Given the description of an element on the screen output the (x, y) to click on. 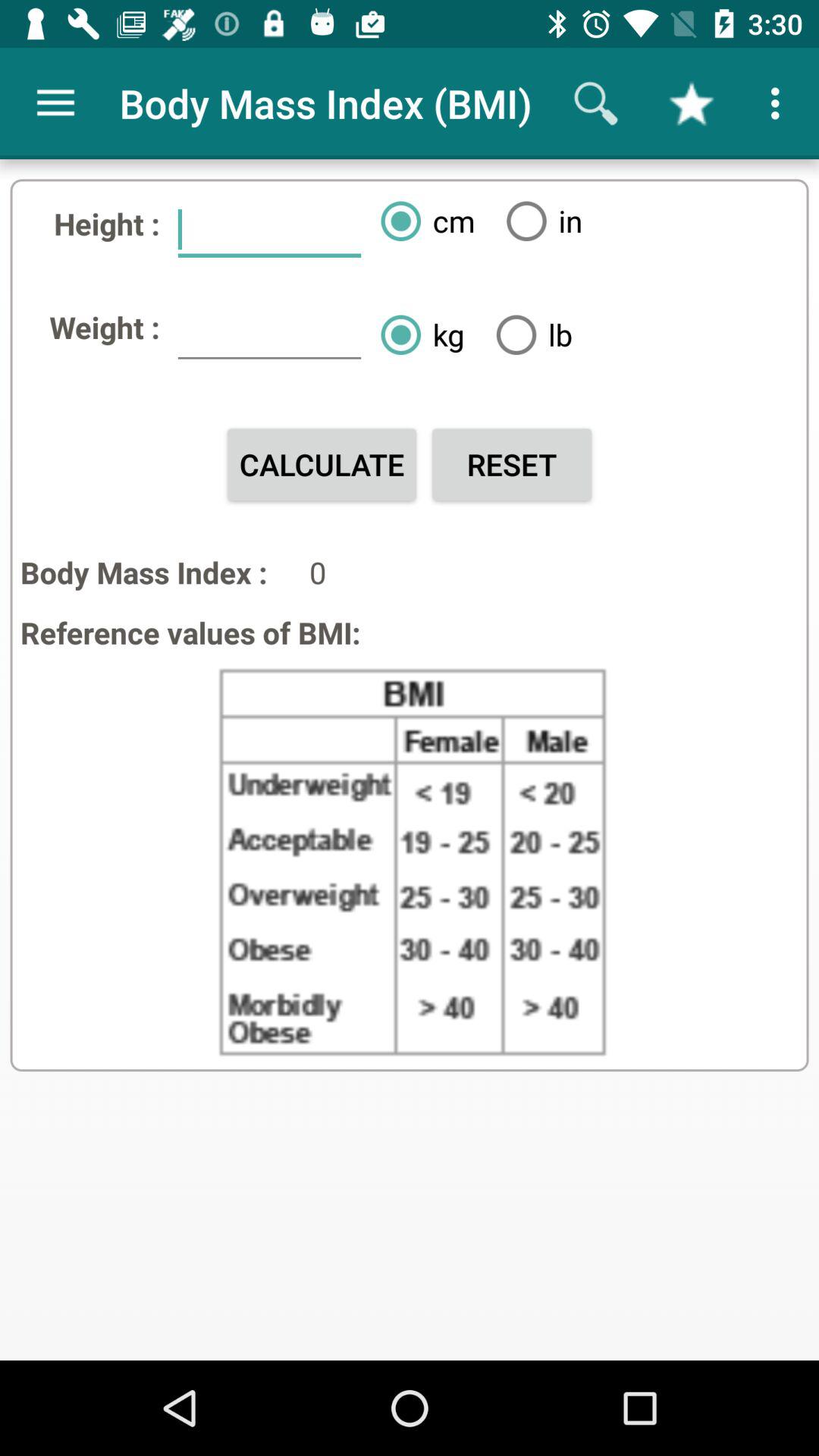
choose item above the calculate item (269, 333)
